Given the description of an element on the screen output the (x, y) to click on. 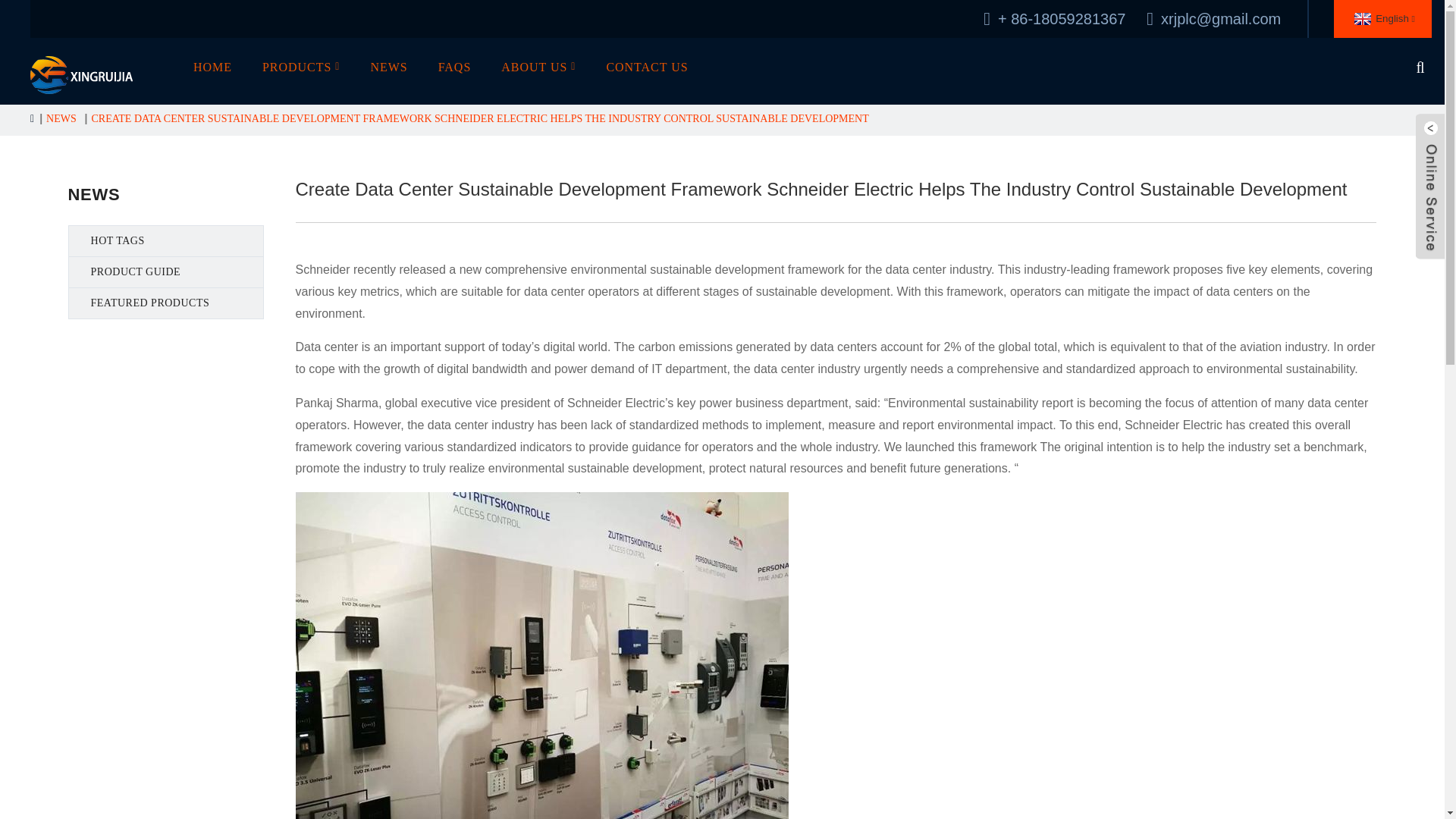
FAQS (454, 67)
NEWS (388, 67)
HOME (212, 67)
English (1383, 18)
PRODUCTS (301, 67)
ABOUT US (538, 67)
CONTACT US (647, 67)
